Given the description of an element on the screen output the (x, y) to click on. 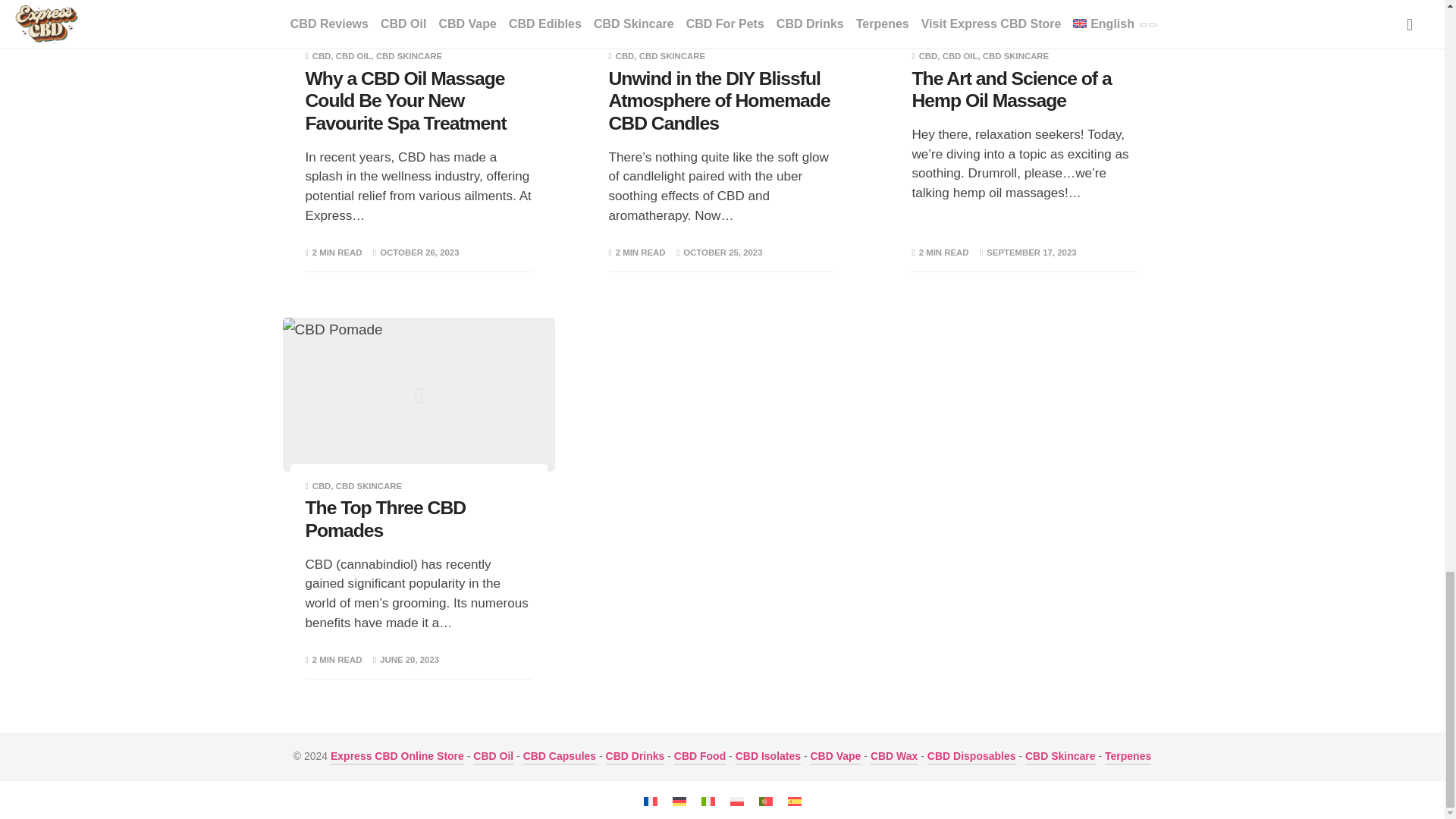
CBD (322, 55)
CBD OIL (353, 55)
CBD SKINCARE (408, 55)
CBD (624, 55)
